Given the description of an element on the screen output the (x, y) to click on. 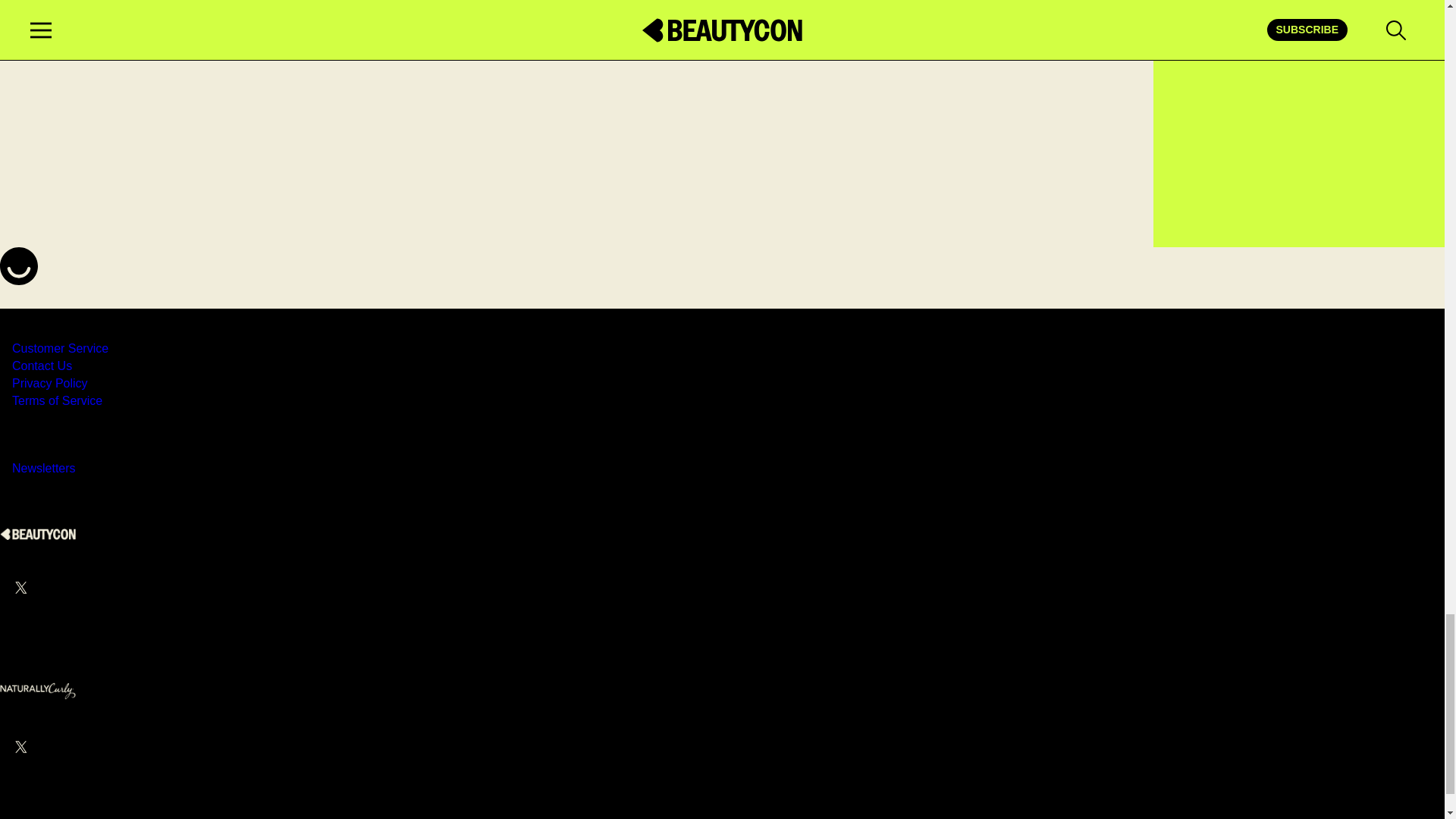
Terms of Service (56, 400)
Privacy Policy (49, 382)
Contact Us (41, 365)
Newsletters (43, 468)
Customer Service (59, 348)
